Given the description of an element on the screen output the (x, y) to click on. 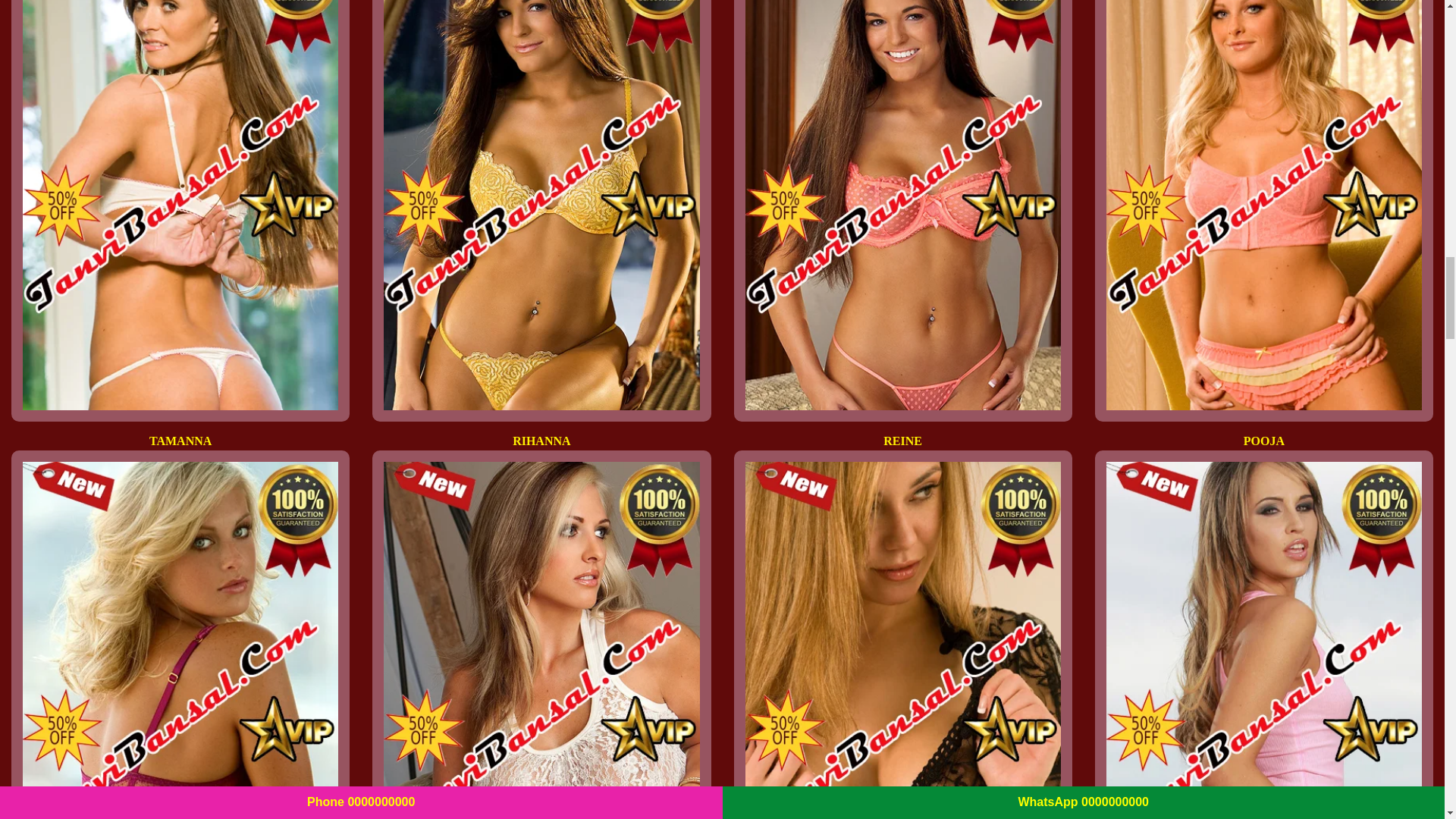
Uppal Escorts - Emma (541, 640)
Jubilee Hills Escorts - Reine (901, 205)
Gachibowli Escorts - Pooja (1264, 205)
Madhapur Escorts - Hazel (180, 640)
Kondapur Escorts - Bailey (901, 640)
Koti Escorts - Arabella (1264, 640)
Kukatpally Escorts- Tamanna (180, 205)
Banjara Hills Escorts - Rihanna (541, 205)
